Given the description of an element on the screen output the (x, y) to click on. 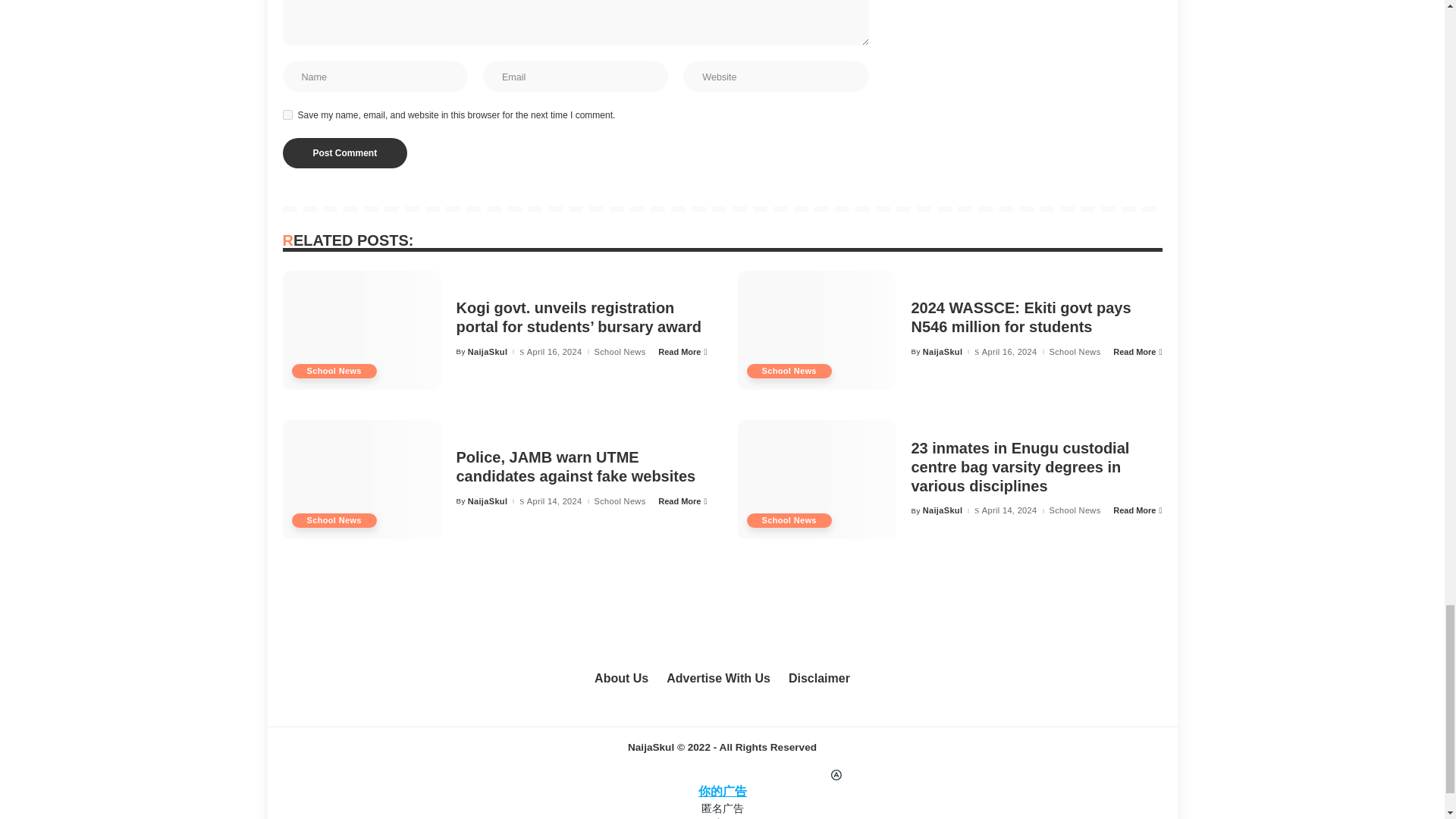
Post Comment (344, 153)
yes (287, 114)
